Given the description of an element on the screen output the (x, y) to click on. 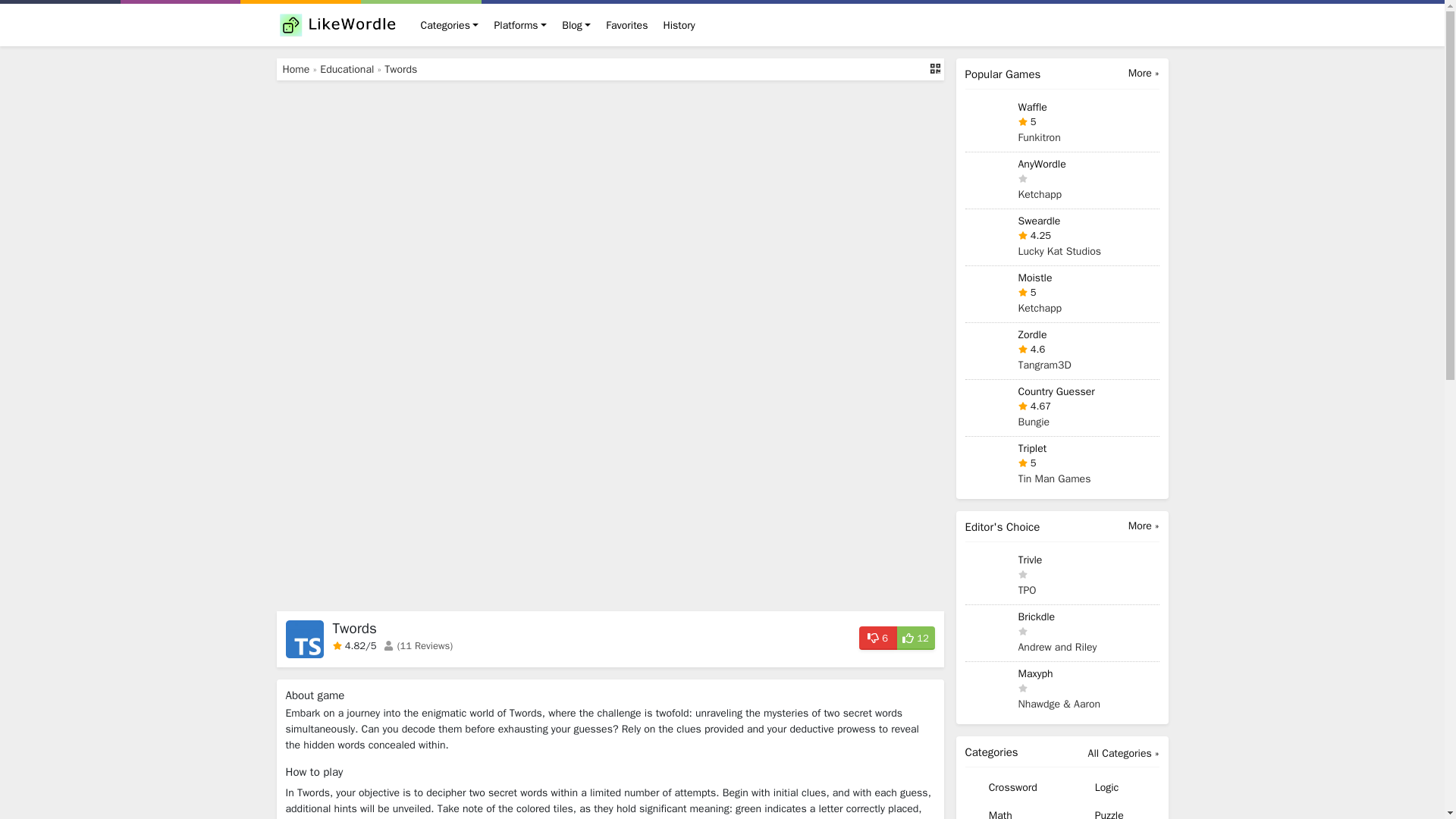
Favorites (626, 24)
Platforms (520, 24)
Educational (347, 69)
History (678, 24)
Home (295, 69)
12 (915, 637)
Twords (400, 69)
6 (877, 637)
Categories (448, 24)
Blog (576, 24)
